Given the description of an element on the screen output the (x, y) to click on. 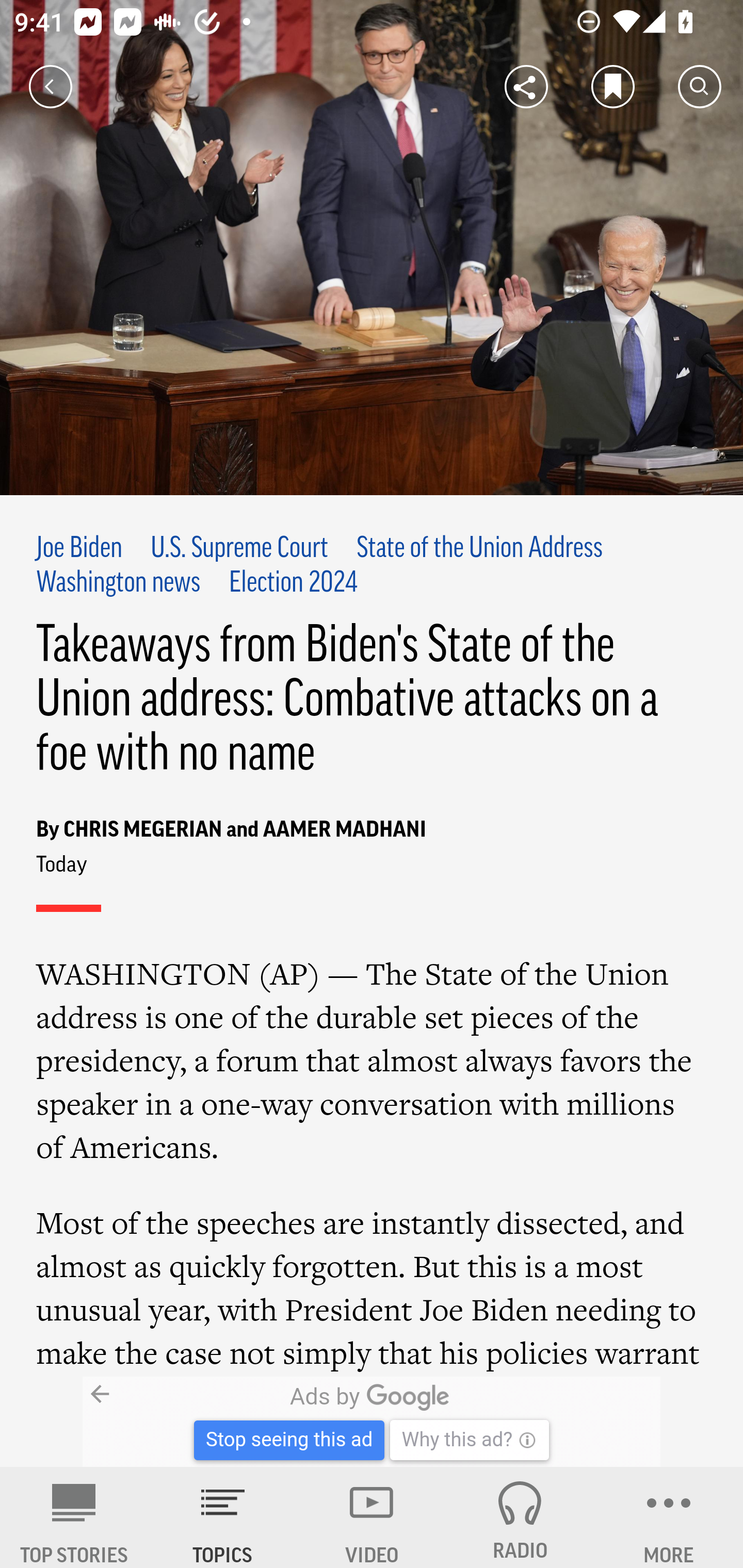
Joe Biden (79, 549)
U.S. Supreme Court (239, 549)
State of the Union Address (479, 549)
Washington news (119, 584)
Election 2024 (292, 584)
B30001746 (168, 1421)
AP News TOP STORIES (74, 1517)
TOPICS (222, 1517)
VIDEO (371, 1517)
RADIO (519, 1517)
MORE (668, 1517)
